Given the description of an element on the screen output the (x, y) to click on. 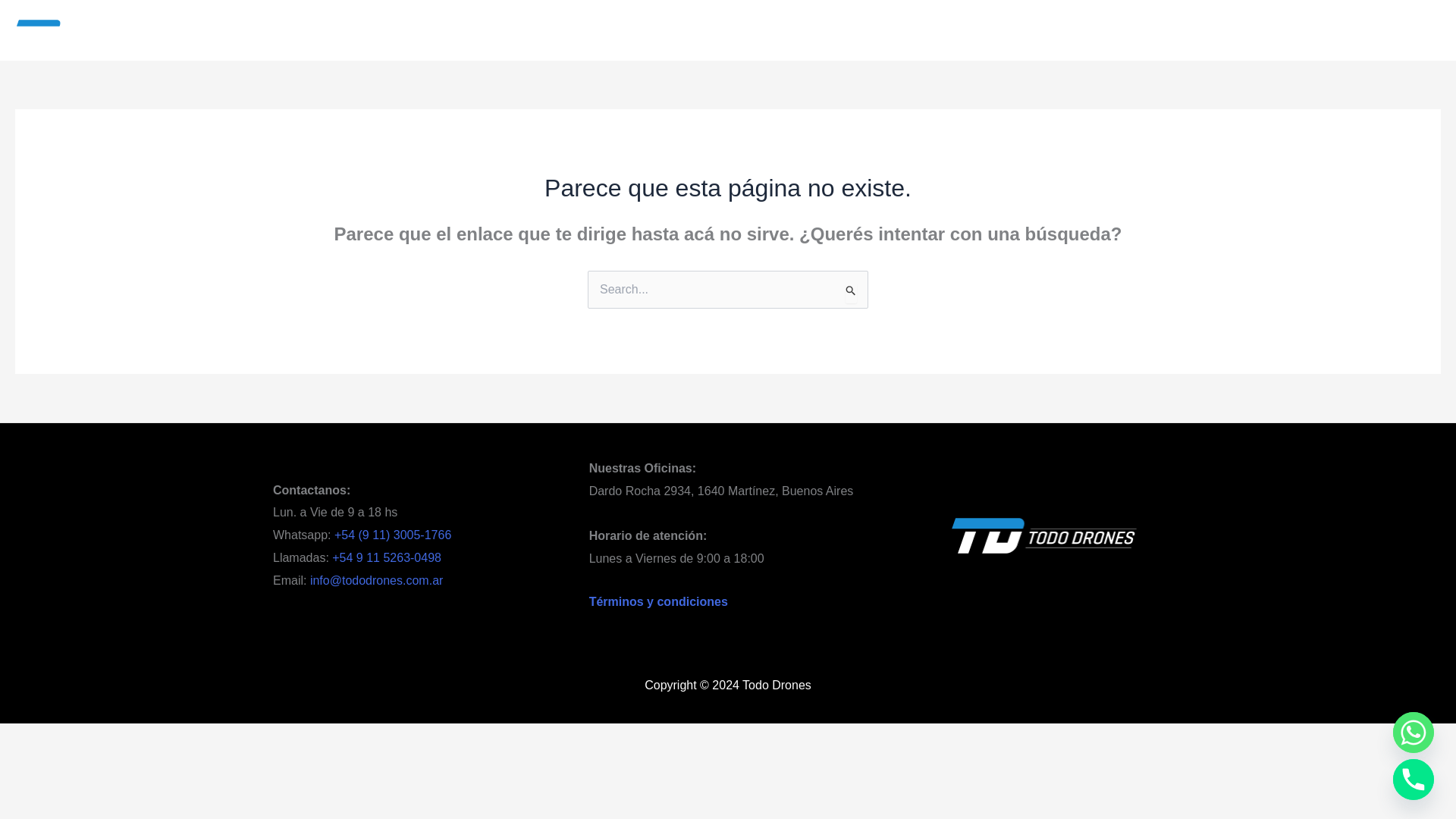
Agricultura (612, 30)
Drones (551, 30)
Empresariales (688, 30)
